Given the description of an element on the screen output the (x, y) to click on. 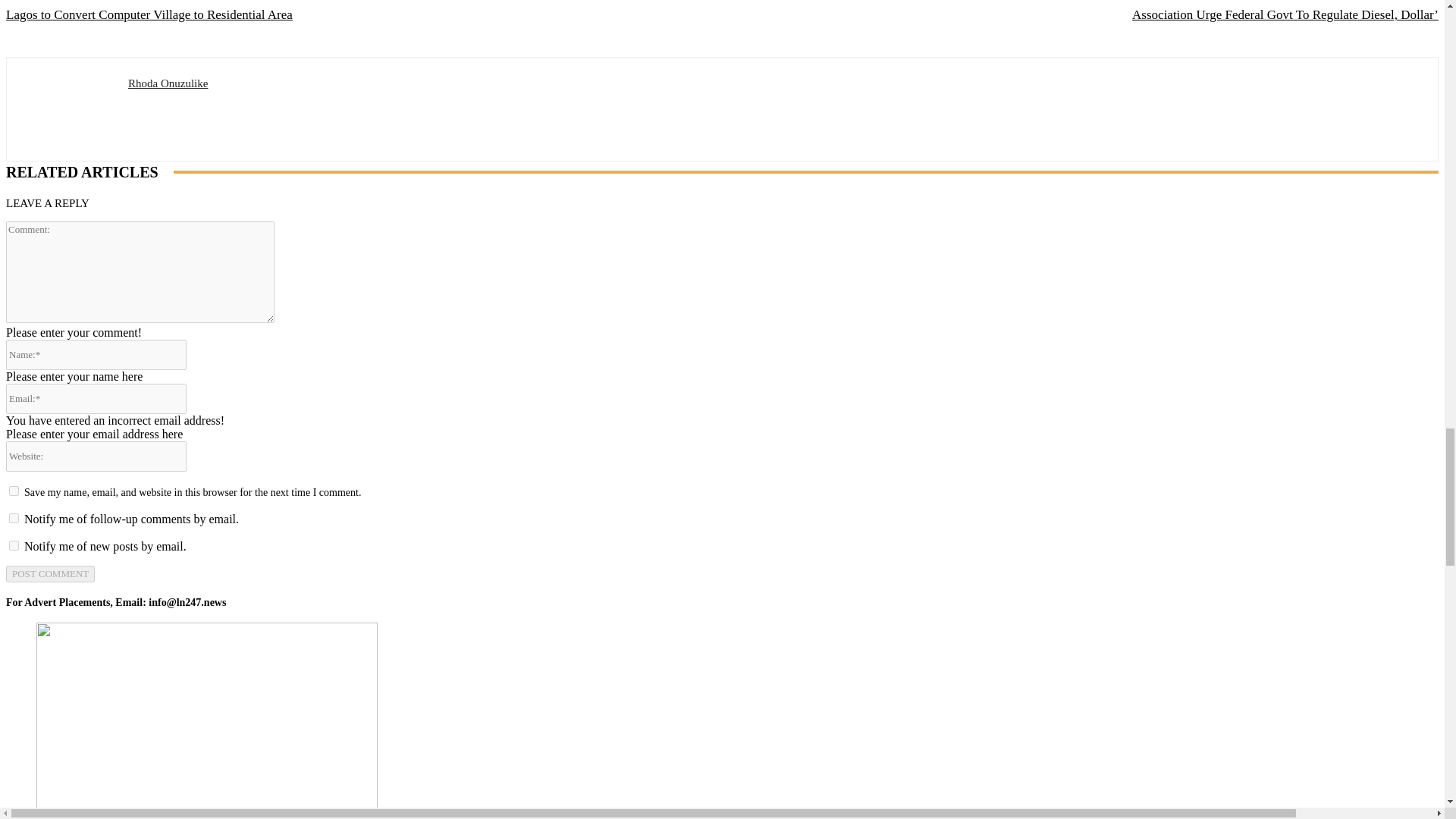
yes (13, 491)
Post Comment (49, 573)
subscribe (13, 518)
subscribe (13, 545)
